Given the description of an element on the screen output the (x, y) to click on. 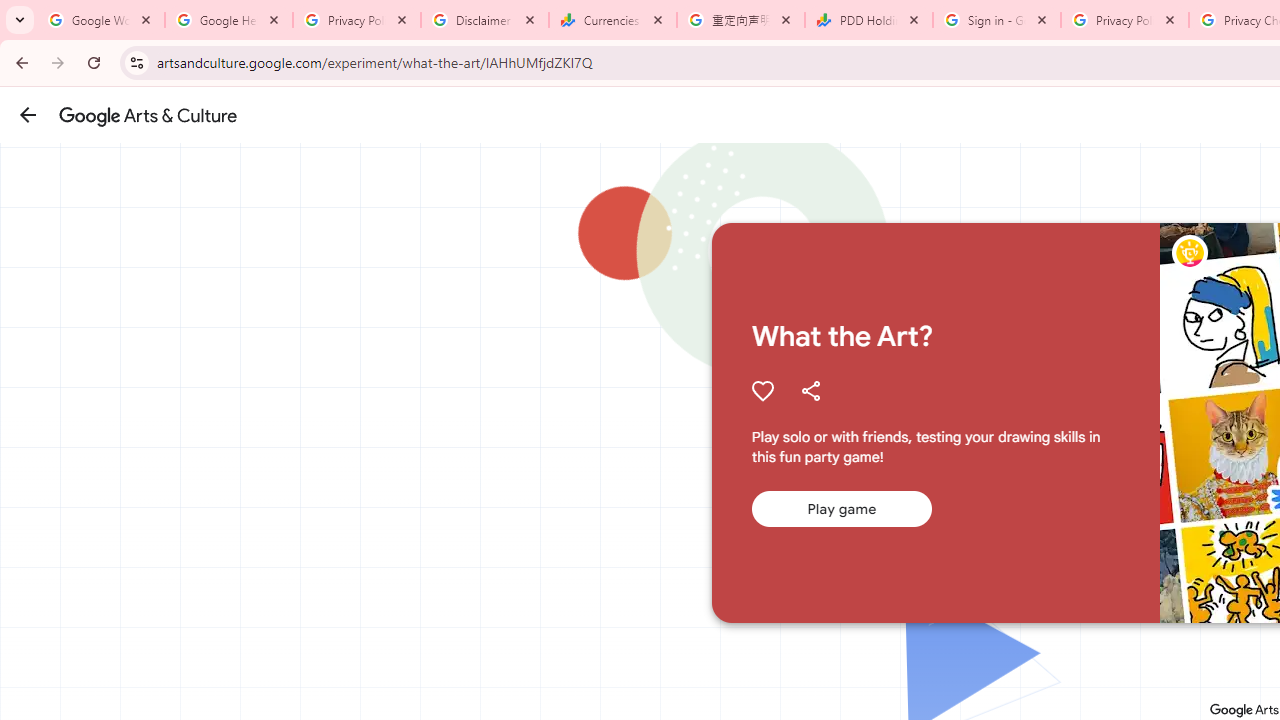
Sign in - Google Accounts (997, 20)
Currencies - Google Finance (613, 20)
Google Arts & Culture (148, 115)
